Given the description of an element on the screen output the (x, y) to click on. 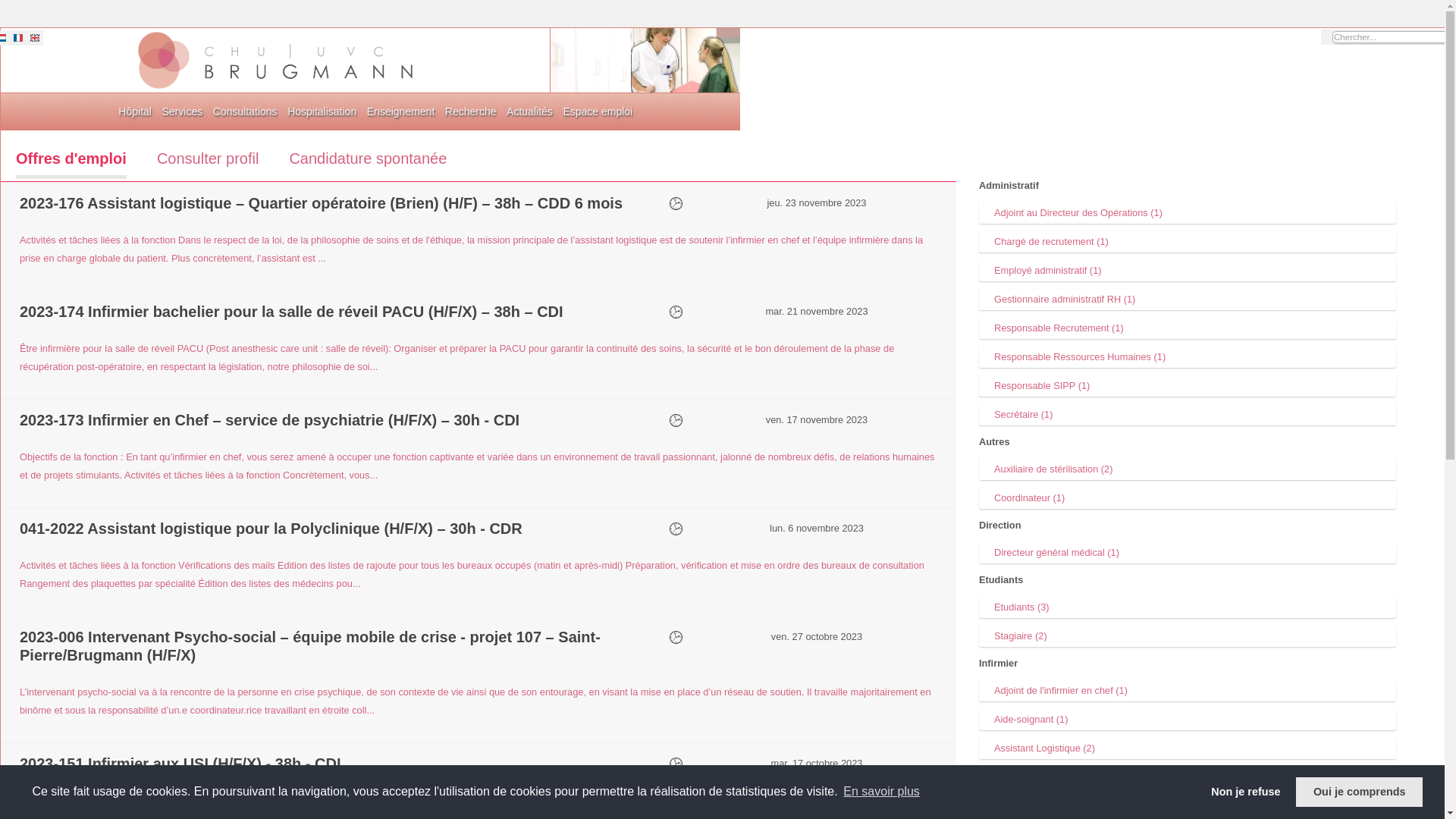
Responsable Ressources Humaines (1) Element type: text (1187, 356)
Espace emploi Element type: text (597, 111)
Offres d'emploi Element type: text (70, 163)
En savoir plus Element type: text (881, 791)
Services Element type: text (182, 111)
Gestionnaire administratif RH (1) Element type: text (1187, 299)
Oui je comprends Element type: text (1358, 791)
Etudiants (3) Element type: text (1187, 607)
Assistant Logistique (2) Element type: text (1187, 748)
Enseignement Element type: text (400, 111)
English Element type: hover (34, 41)
Recherche Element type: text (470, 111)
Hospitalisation Element type: text (321, 111)
Stagiaire (2) Element type: text (1187, 635)
Adjoint de l'infirmier en chef (1) Element type: text (1187, 690)
Responsable SIPP (1) Element type: text (1187, 385)
Consultations Element type: text (245, 111)
2023-151 Infirmier aux USI (H/F/X) - 38h - CDI Element type: text (179, 763)
Responsable Recrutement (1) Element type: text (1187, 327)
Consulter profil Element type: text (207, 162)
Aide-soignant (1) Element type: text (1187, 719)
Bachelier en soins infirmiers (18) Element type: text (1187, 776)
Non je refuse Element type: text (1245, 791)
Coordinateur (1) Element type: text (1187, 497)
French Element type: hover (17, 41)
Infirmier en chef (3) Element type: text (1187, 805)
